Given the description of an element on the screen output the (x, y) to click on. 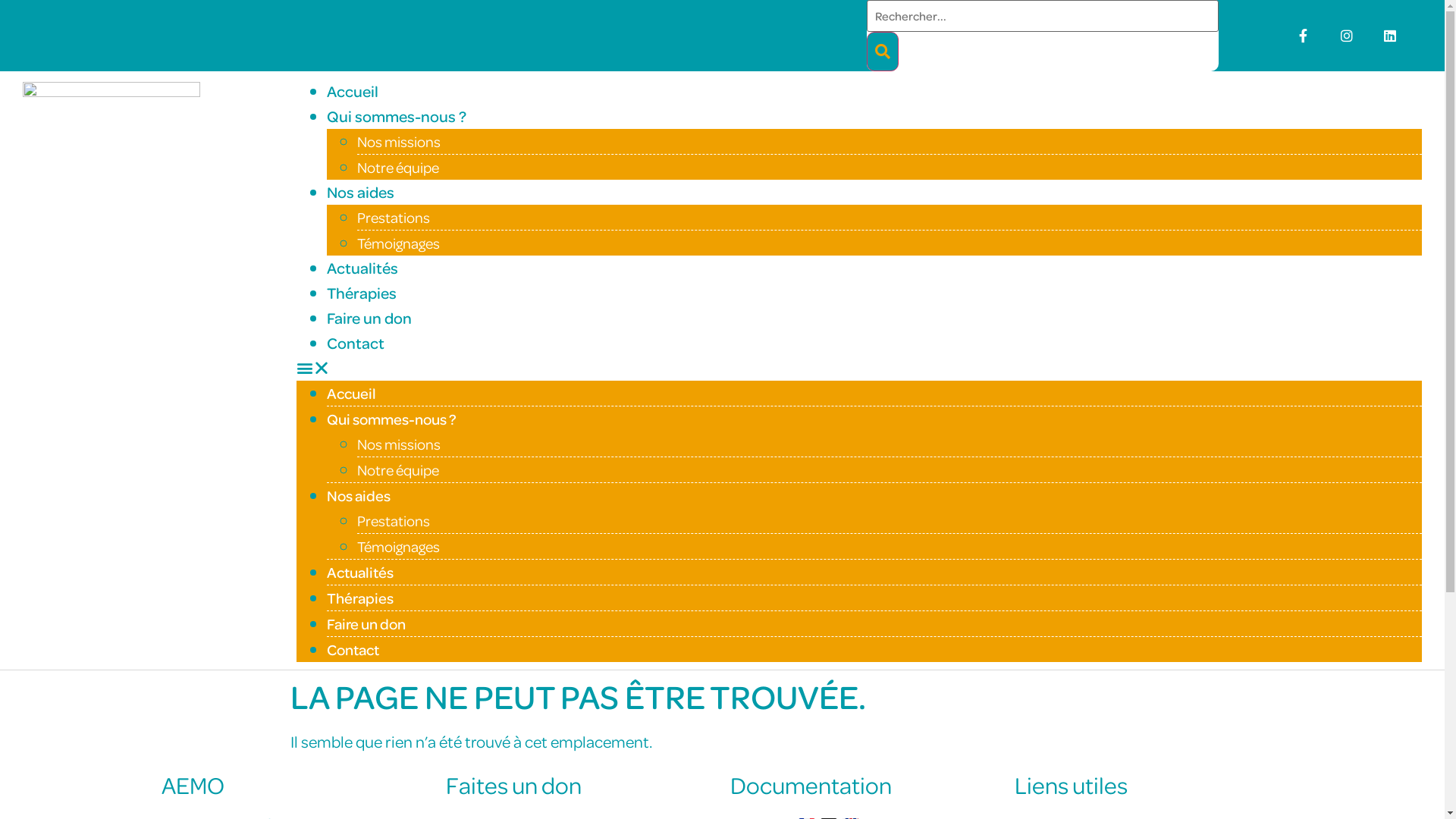
Qui sommes-nous ? Element type: text (391, 418)
Prestations Element type: text (393, 217)
Contact Element type: text (355, 343)
Nos aides Element type: text (360, 192)
Faire un don Element type: text (365, 623)
Faire un don Element type: text (368, 318)
Prestations Element type: text (393, 520)
Nos missions Element type: text (398, 443)
Qui sommes-nous ? Element type: text (396, 116)
Nos aides Element type: text (358, 495)
Accueil Element type: text (352, 91)
Accueil Element type: text (351, 392)
Contact Element type: text (352, 649)
Nos missions Element type: text (398, 141)
